Given the description of an element on the screen output the (x, y) to click on. 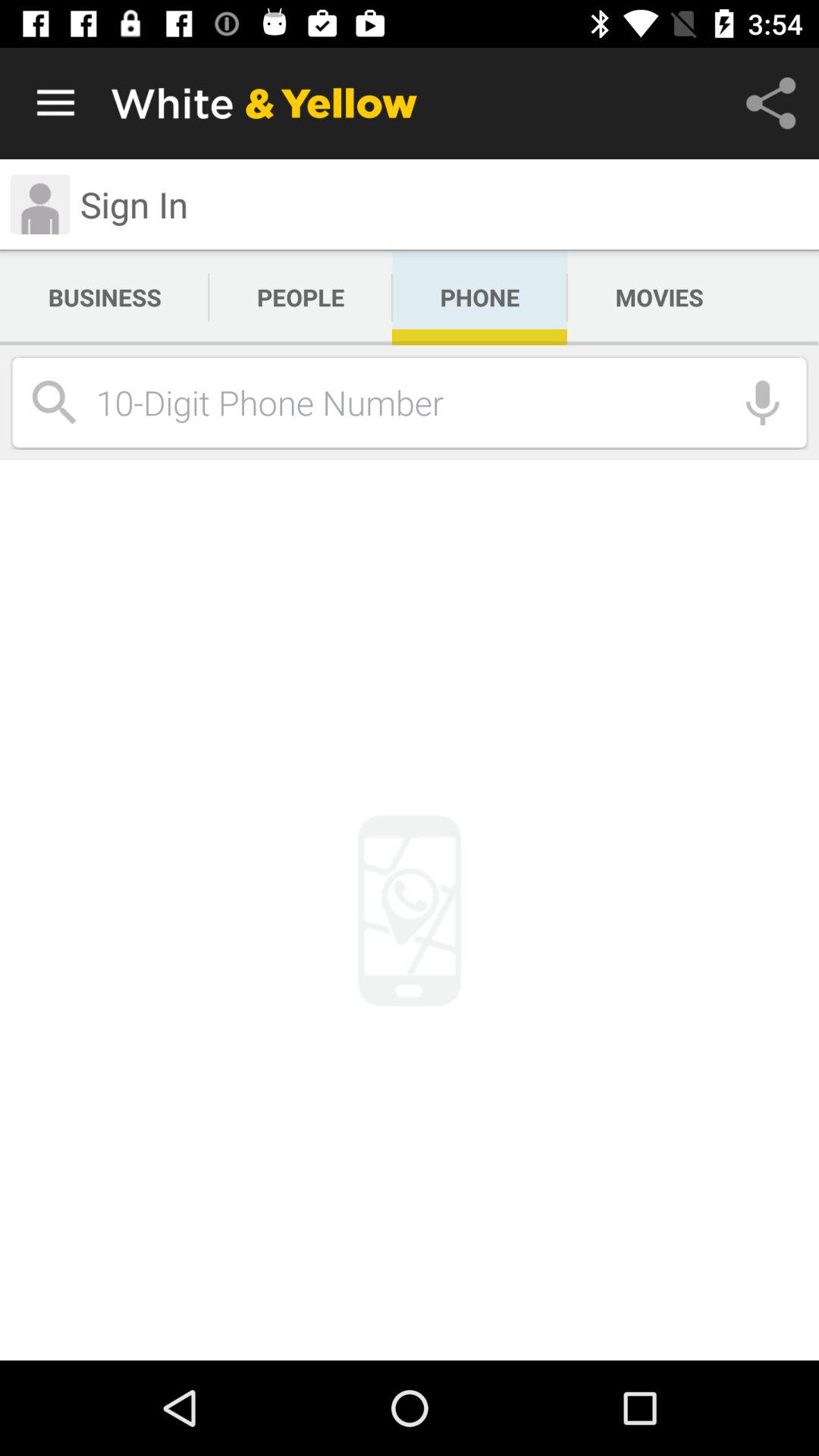
turn off icon next to phone (659, 297)
